Given the description of an element on the screen output the (x, y) to click on. 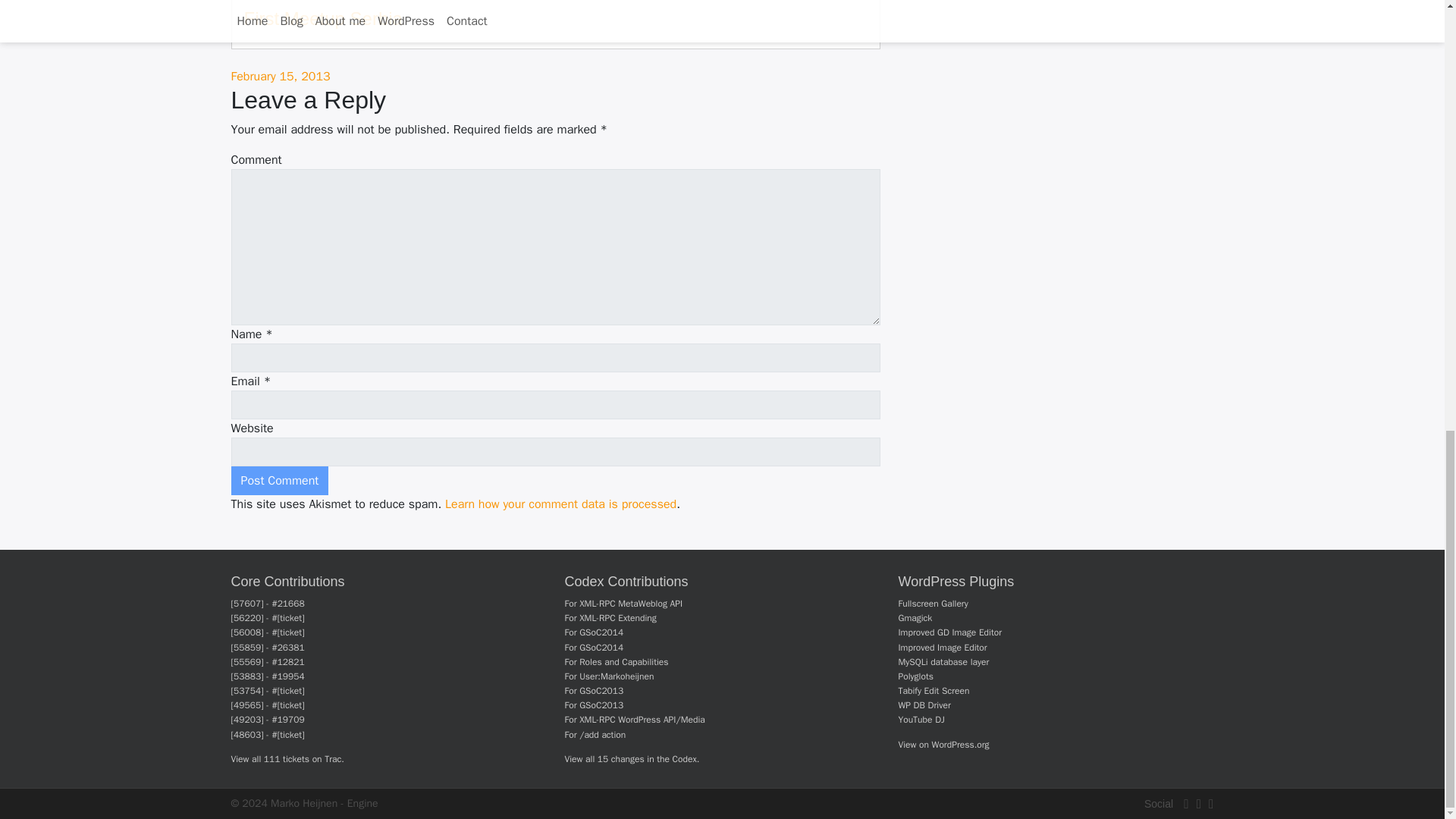
View all 111 tickets on Trac. (286, 758)
Removed Child Theme Management in WordPress (601, 690)
GSoC2014 (601, 647)
Remove all references to product (623, 662)
Created page with  (616, 676)
First Meetup Serbia (323, 18)
No base64 encoding please (641, 719)
GSoC2014 (601, 632)
Post Comment (279, 480)
Learn how your comment data is processed (561, 503)
